Given the description of an element on the screen output the (x, y) to click on. 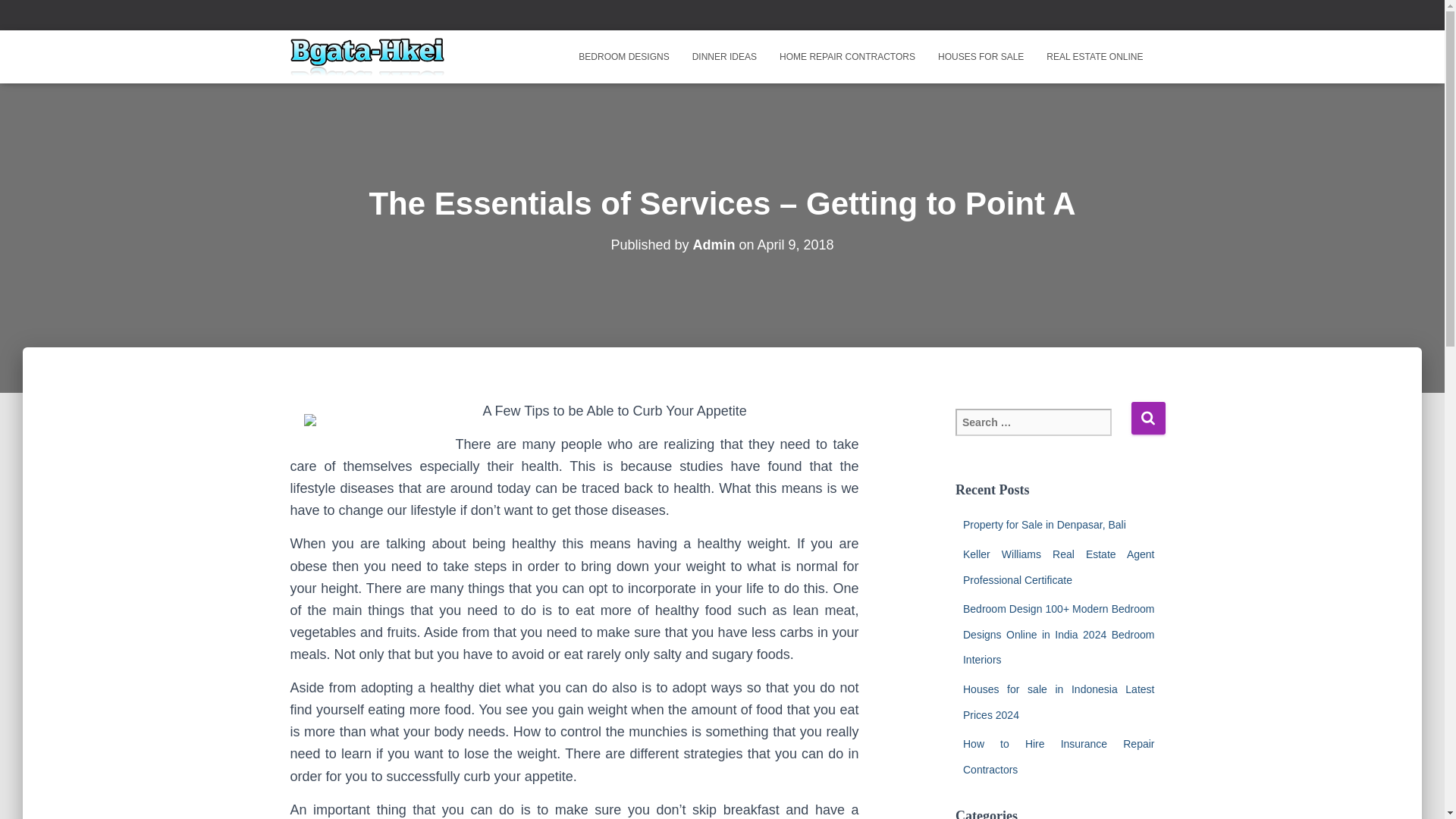
HOUSES FOR SALE (980, 56)
Search (1148, 418)
Houses For Sale (980, 56)
Admin (714, 244)
BEDROOM DESIGNS (623, 56)
Houses for sale in Indonesia Latest Prices 2024 (1058, 702)
Dinner Ideas (724, 56)
Search (1148, 418)
Search (1148, 418)
Property for Sale in Denpasar, Bali (1043, 524)
